Given the description of an element on the screen output the (x, y) to click on. 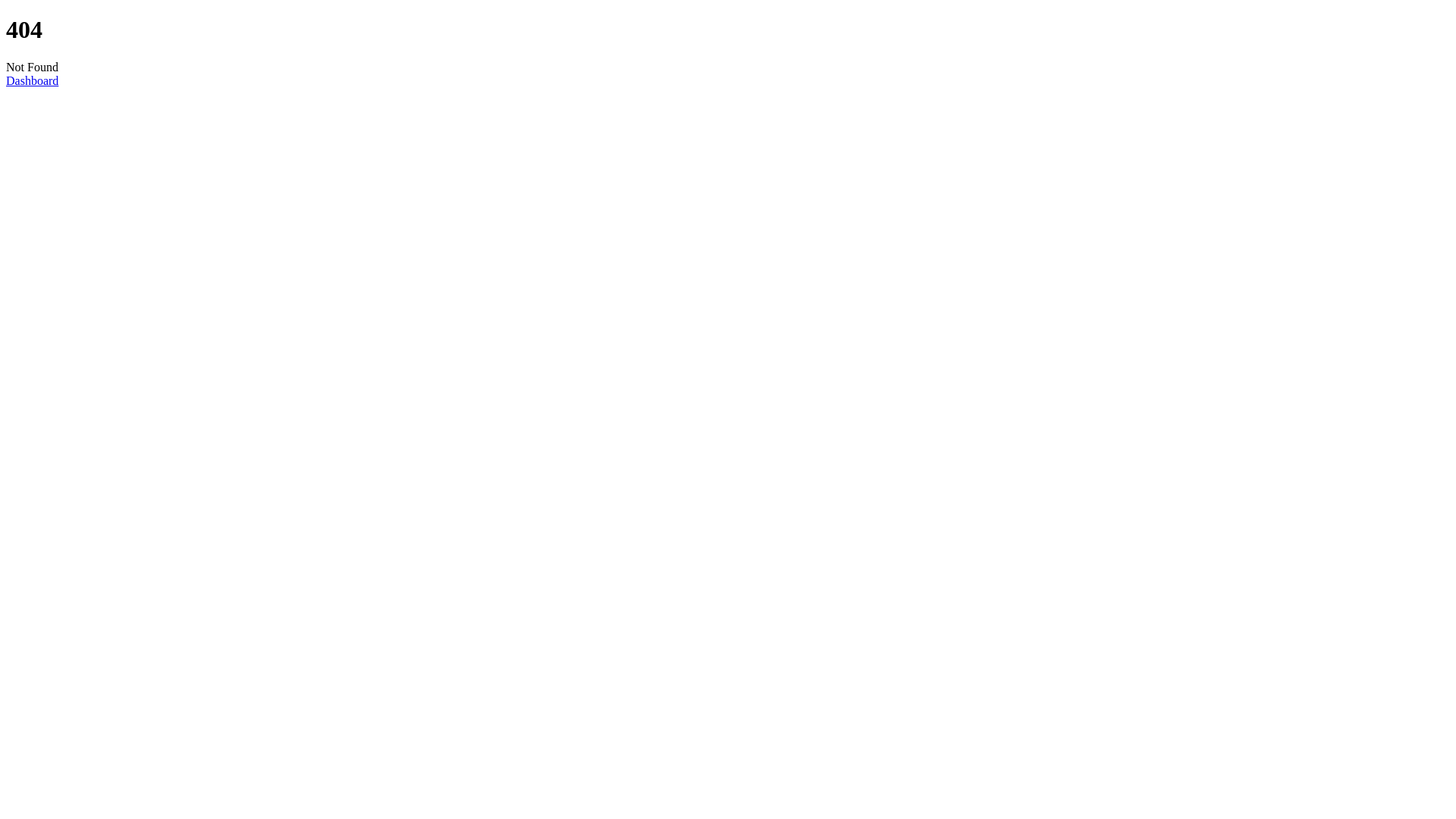
Dashboard Element type: text (32, 80)
